Given the description of an element on the screen output the (x, y) to click on. 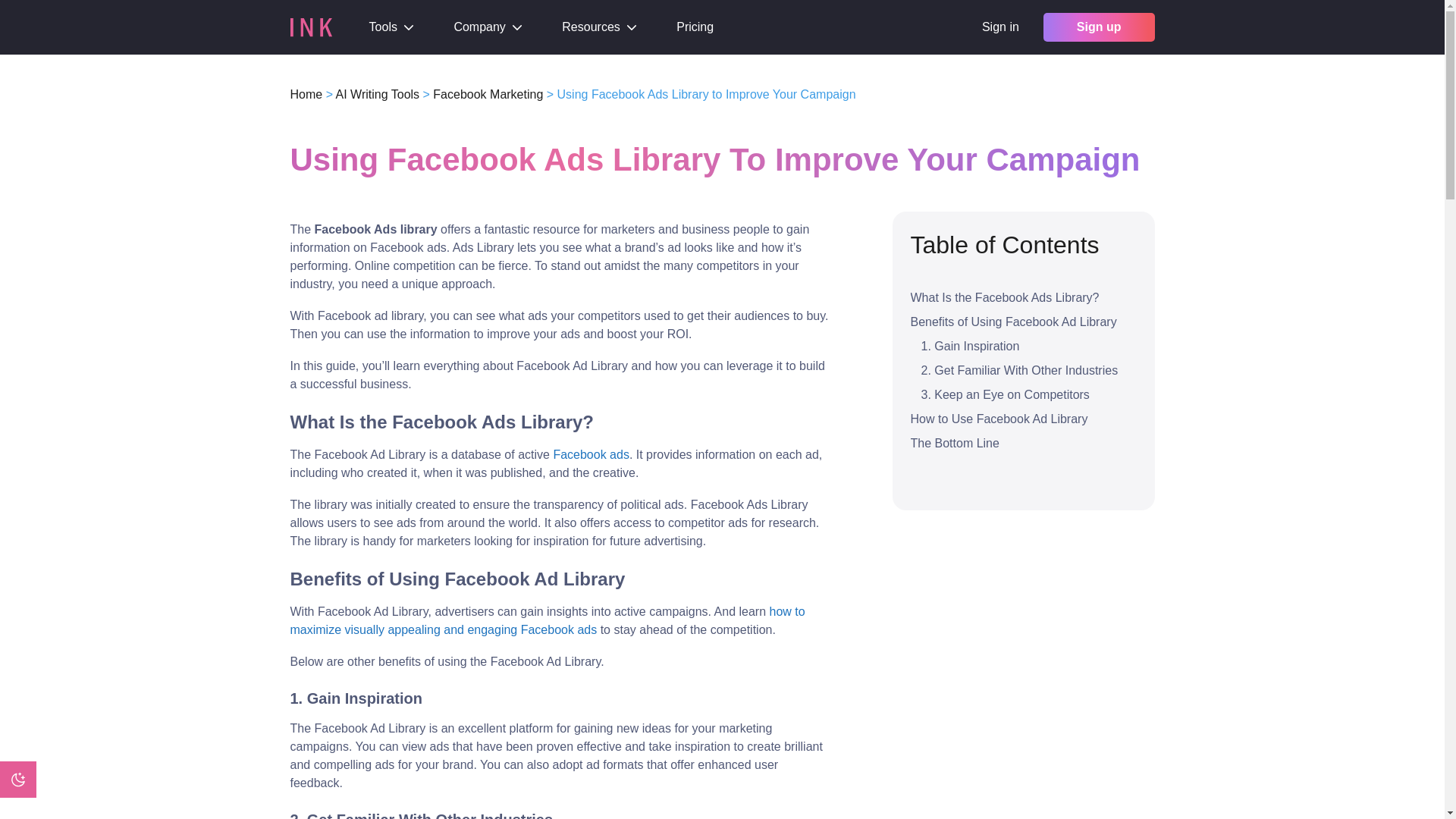
Pricing (694, 27)
Sign in (1000, 27)
Sign up (1098, 27)
